Given the description of an element on the screen output the (x, y) to click on. 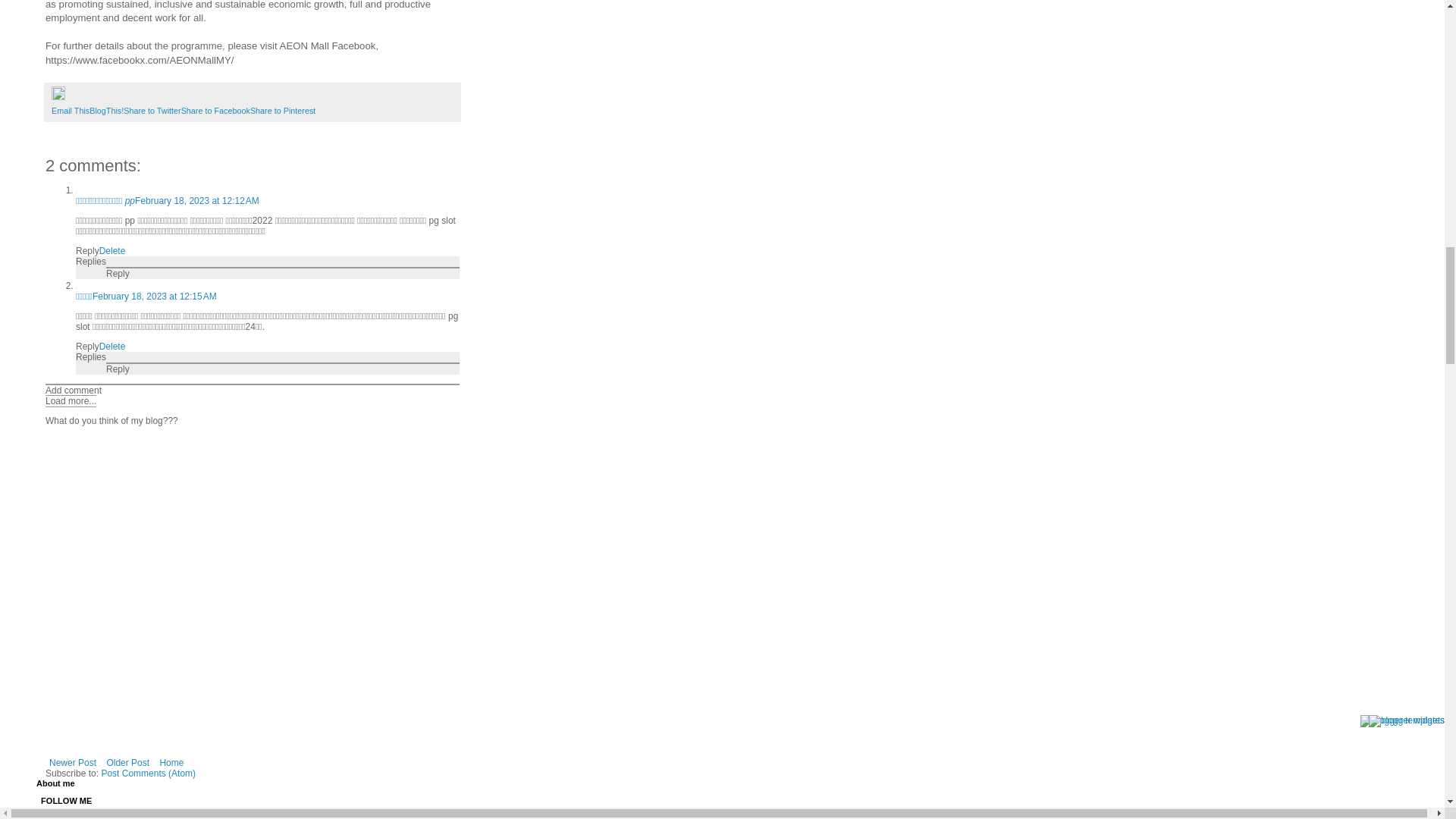
Reply (117, 368)
Add comment (73, 389)
Home (171, 762)
Email This (69, 110)
Replies (90, 261)
Email This (69, 110)
Share to Facebook (215, 110)
Share to Twitter (151, 110)
Facebook (86, 816)
Edit Post (57, 96)
Delete (112, 346)
Newer Post (72, 762)
Delete (112, 250)
Reply (117, 273)
